Given the description of an element on the screen output the (x, y) to click on. 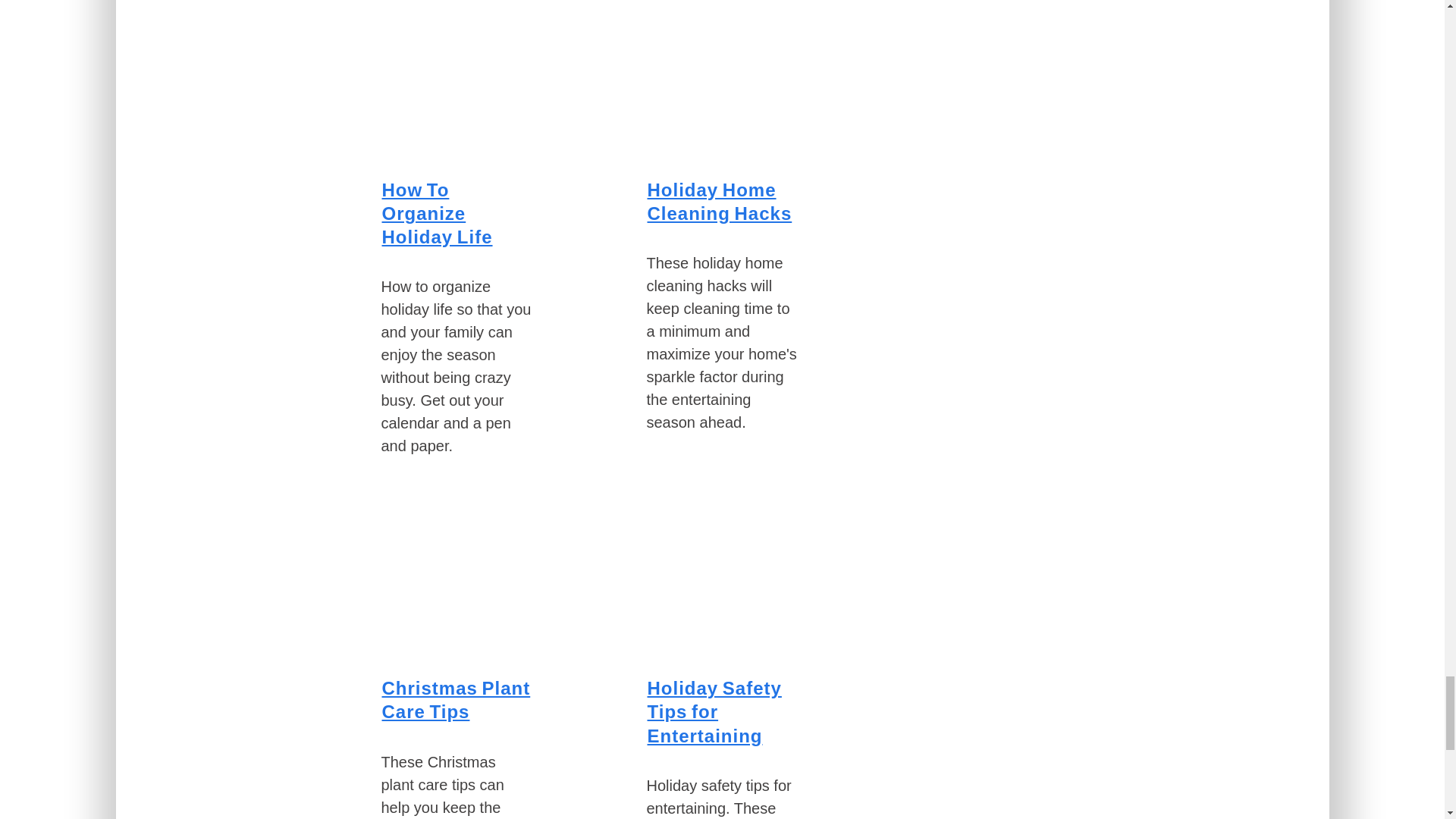
Holiday Home Cleaning Hacks (719, 201)
How To Organize Holiday Life (437, 213)
Christmas Plant Care Tips (456, 699)
Holiday Safety Tips for Entertaining (714, 711)
